Given the description of an element on the screen output the (x, y) to click on. 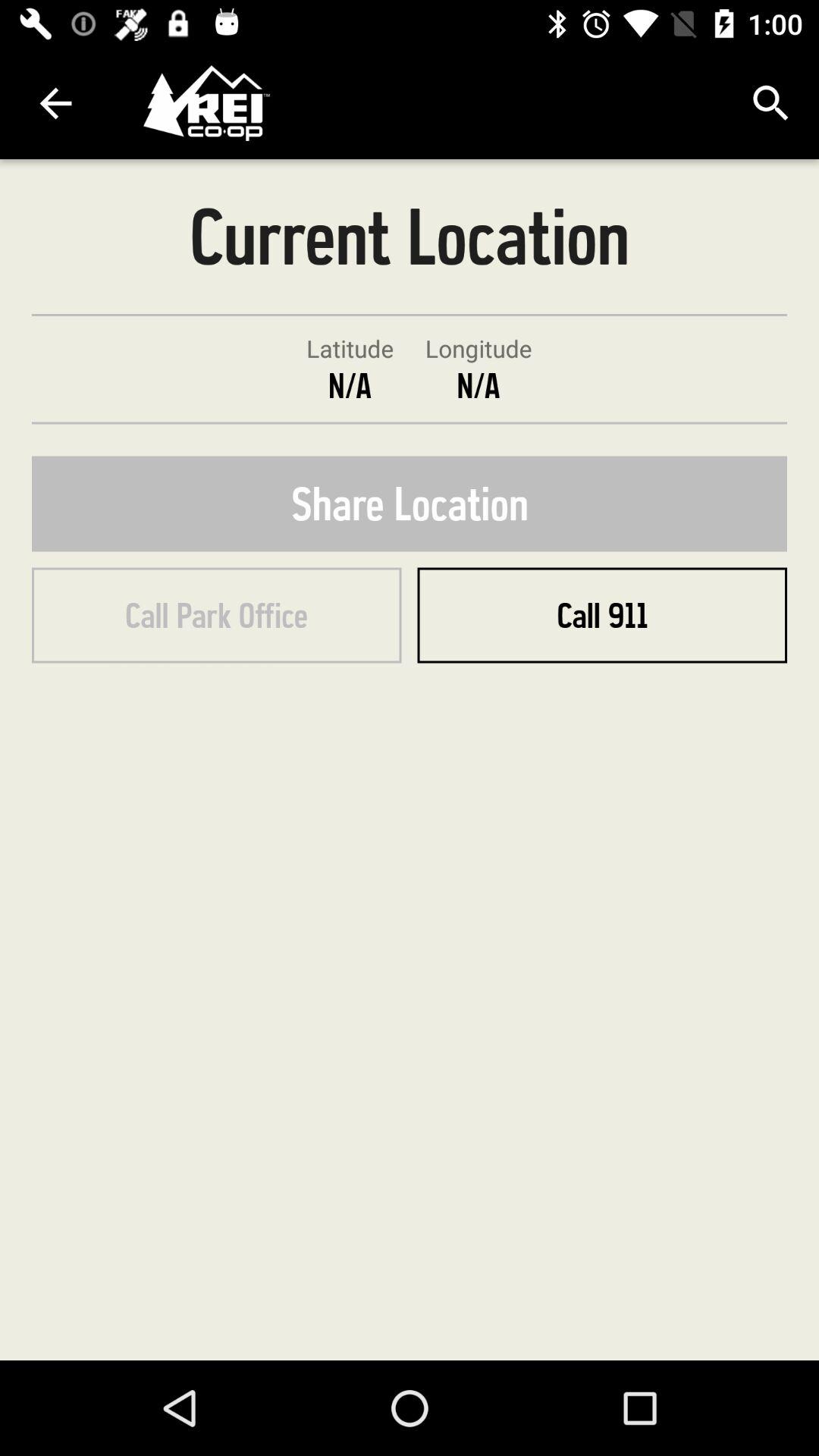
open item next to the call 911 icon (216, 615)
